Given the description of an element on the screen output the (x, y) to click on. 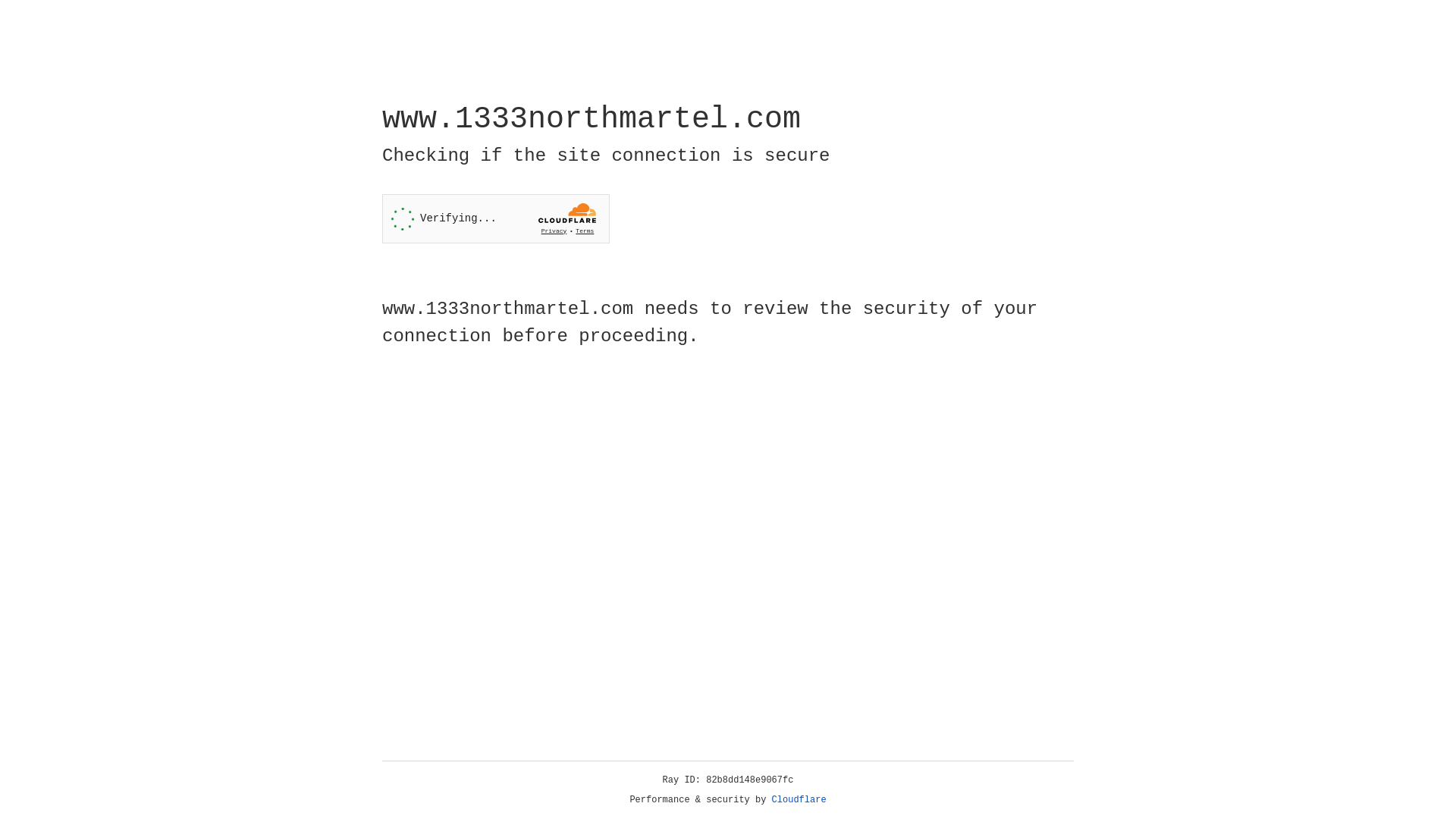
Cloudflare Element type: text (798, 799)
Widget containing a Cloudflare security challenge Element type: hover (495, 218)
